Given the description of an element on the screen output the (x, y) to click on. 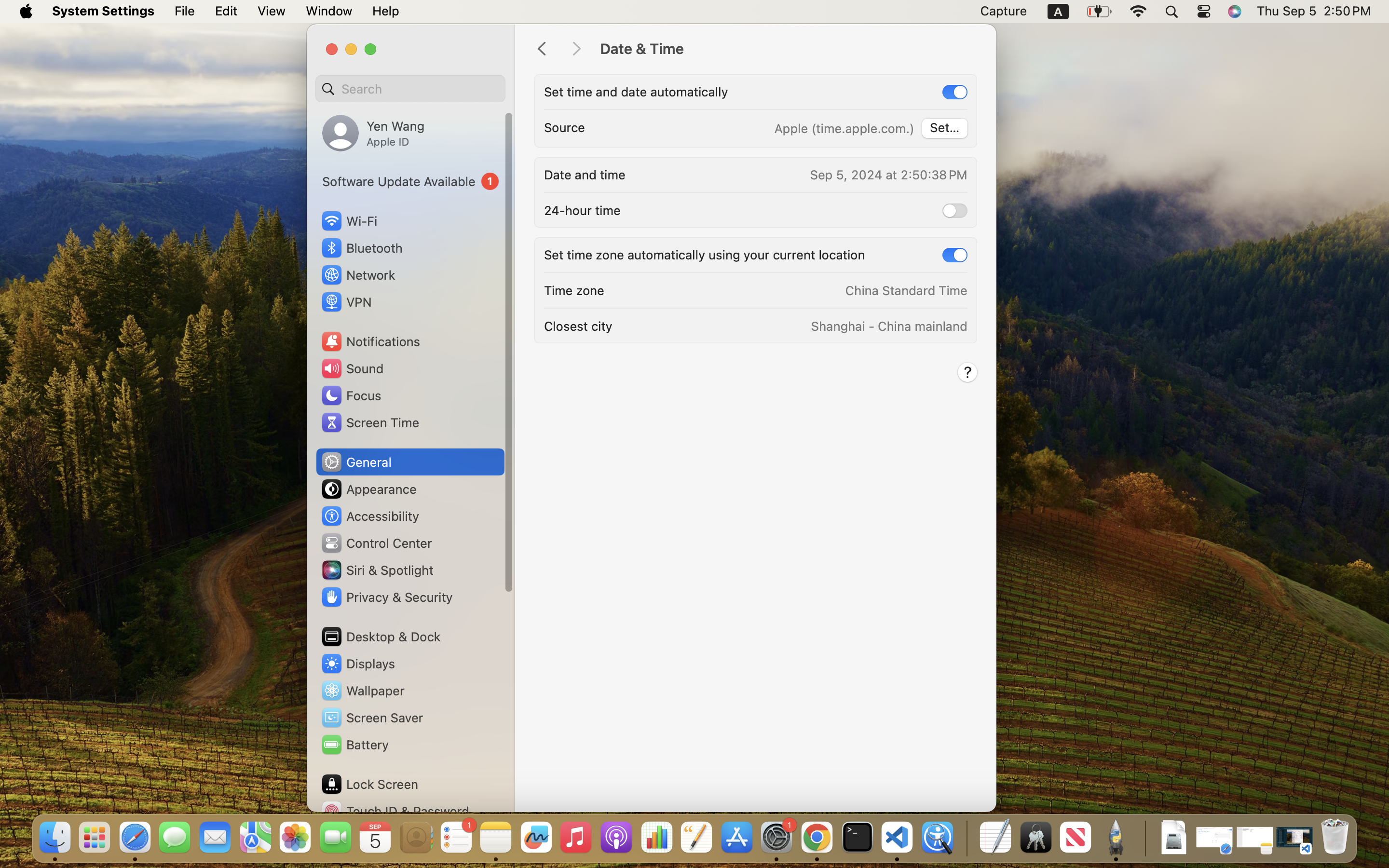
Screen Saver Element type: AXStaticText (371, 717)
Wallpaper Element type: AXStaticText (362, 690)
Shanghai - China mainland Element type: AXStaticText (888, 325)
Control Center Element type: AXStaticText (376, 542)
Siri & Spotlight Element type: AXStaticText (376, 569)
